Given the description of an element on the screen output the (x, y) to click on. 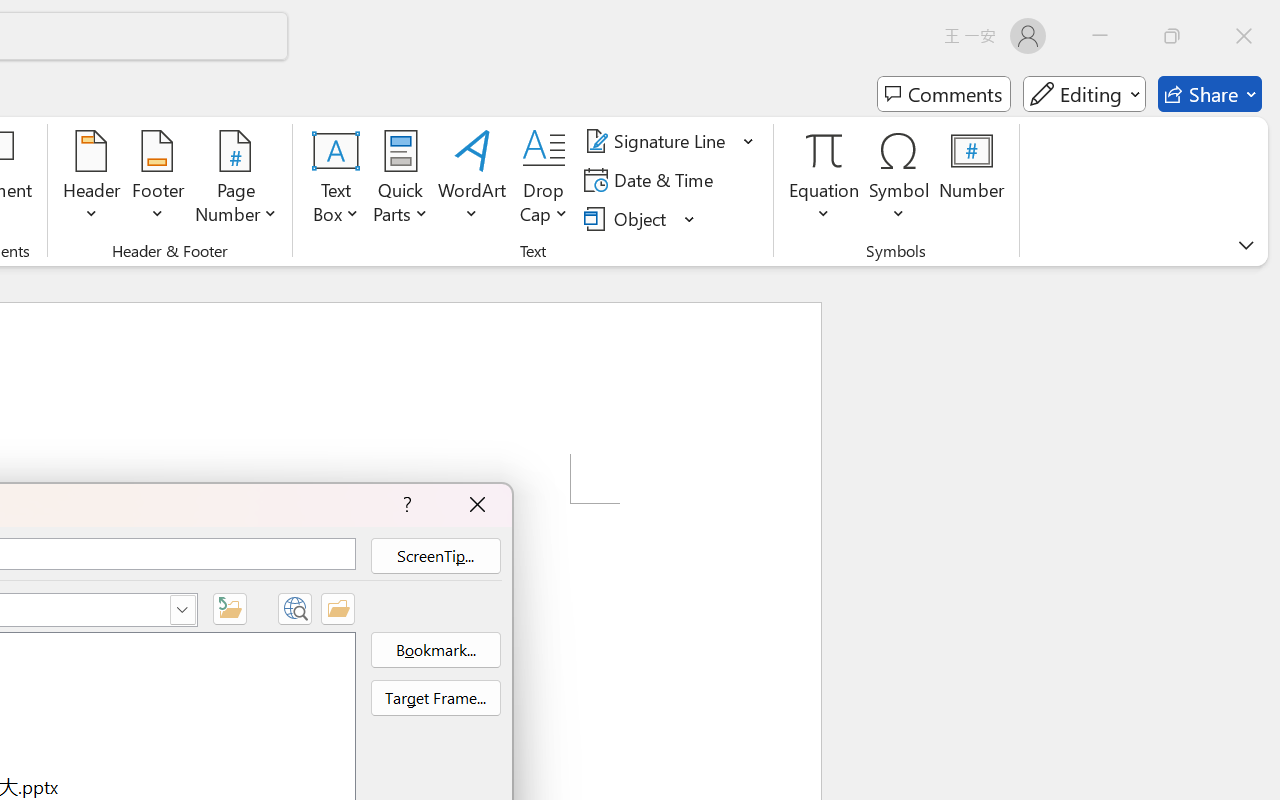
Browse for File (337, 608)
Quick Parts (400, 179)
Object... (628, 218)
